Given the description of an element on the screen output the (x, y) to click on. 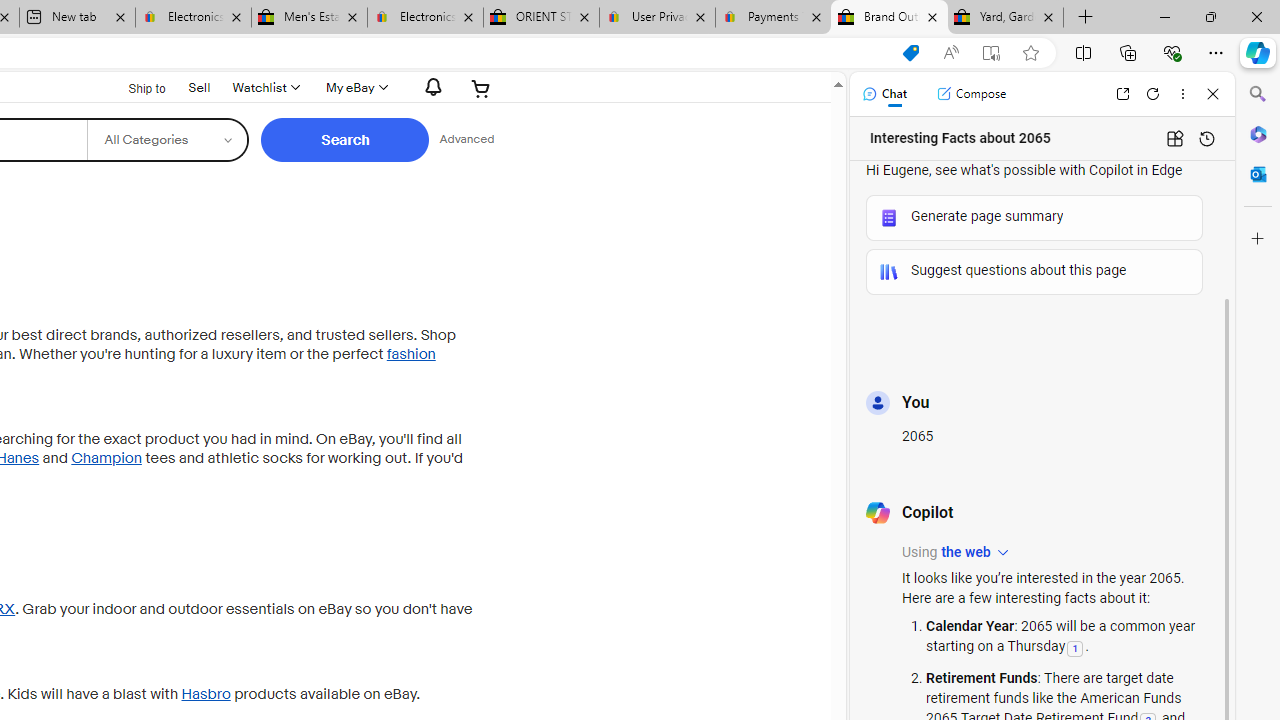
Your shopping cart (481, 88)
Brand Outlet products for sale | eBay (889, 17)
Watchlist (264, 88)
Compose (971, 93)
Ship to (134, 86)
Hasbro (205, 694)
My eBayExpand My eBay (354, 88)
